Given the description of an element on the screen output the (x, y) to click on. 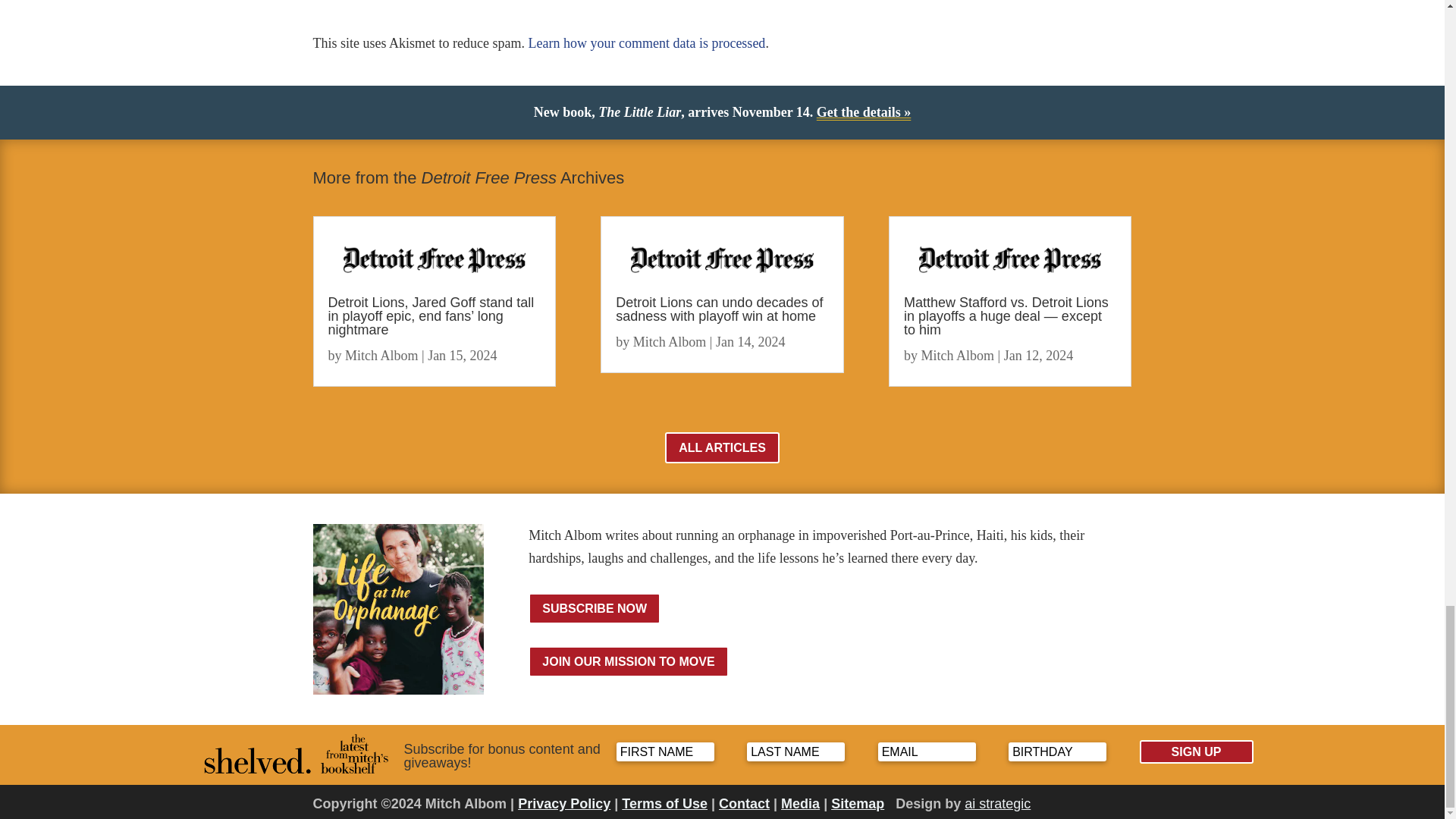
Posts by Mitch Albom (669, 341)
Posts by Mitch Albom (957, 355)
Posts by Mitch Albom (382, 355)
Life at the Orphanage-300 (398, 609)
